Given the description of an element on the screen output the (x, y) to click on. 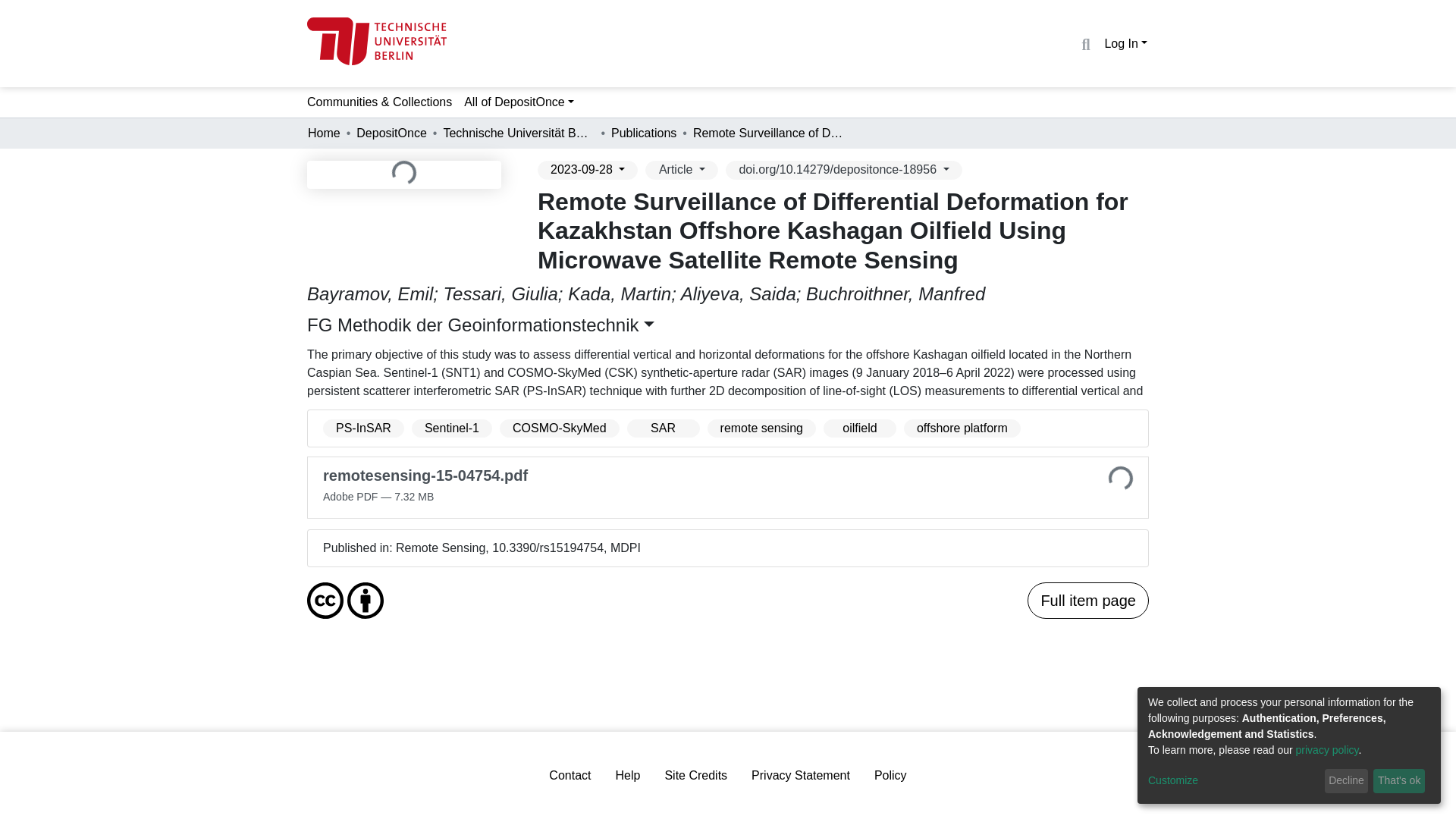
Sentinel-1 (452, 428)
Kada, Martin (619, 293)
Buchroithner, Manfred (895, 293)
Home (323, 133)
DepositOnce (391, 133)
2023-09-28 (587, 169)
COSMO-SkyMed (559, 428)
Tessari, Giulia (500, 293)
oilfield (860, 428)
remote sensing (761, 428)
Log In (1125, 42)
All of DepositOnce (518, 101)
Bayramov, Emil (369, 293)
Search (1084, 45)
Aliyeva, Saida (738, 293)
